Given the description of an element on the screen output the (x, y) to click on. 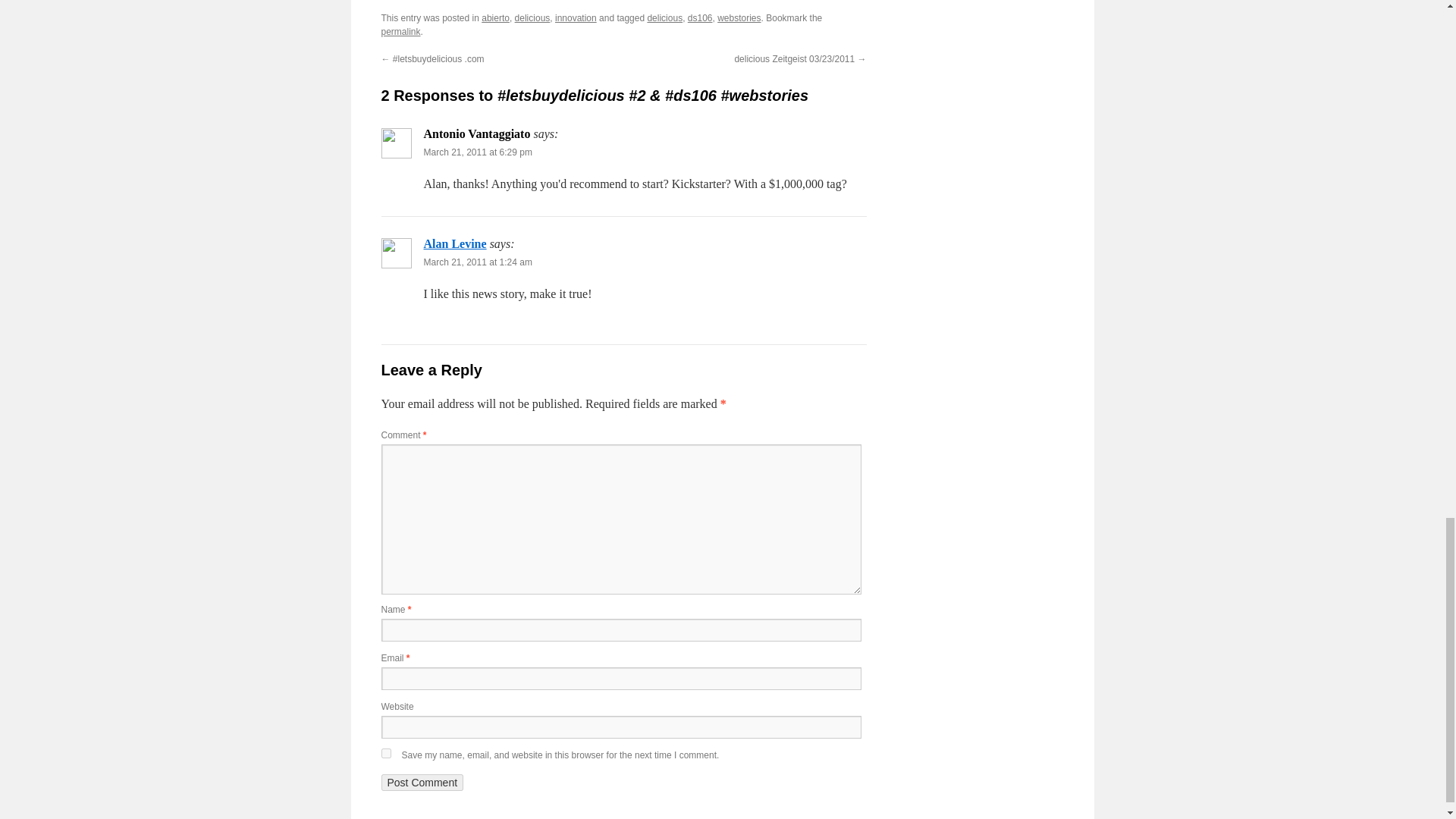
innovation (575, 18)
Post Comment (421, 782)
delicious (664, 18)
permalink (400, 31)
abierto (495, 18)
ds106 (700, 18)
delicious (532, 18)
yes (385, 753)
webstories (738, 18)
